Given the description of an element on the screen output the (x, y) to click on. 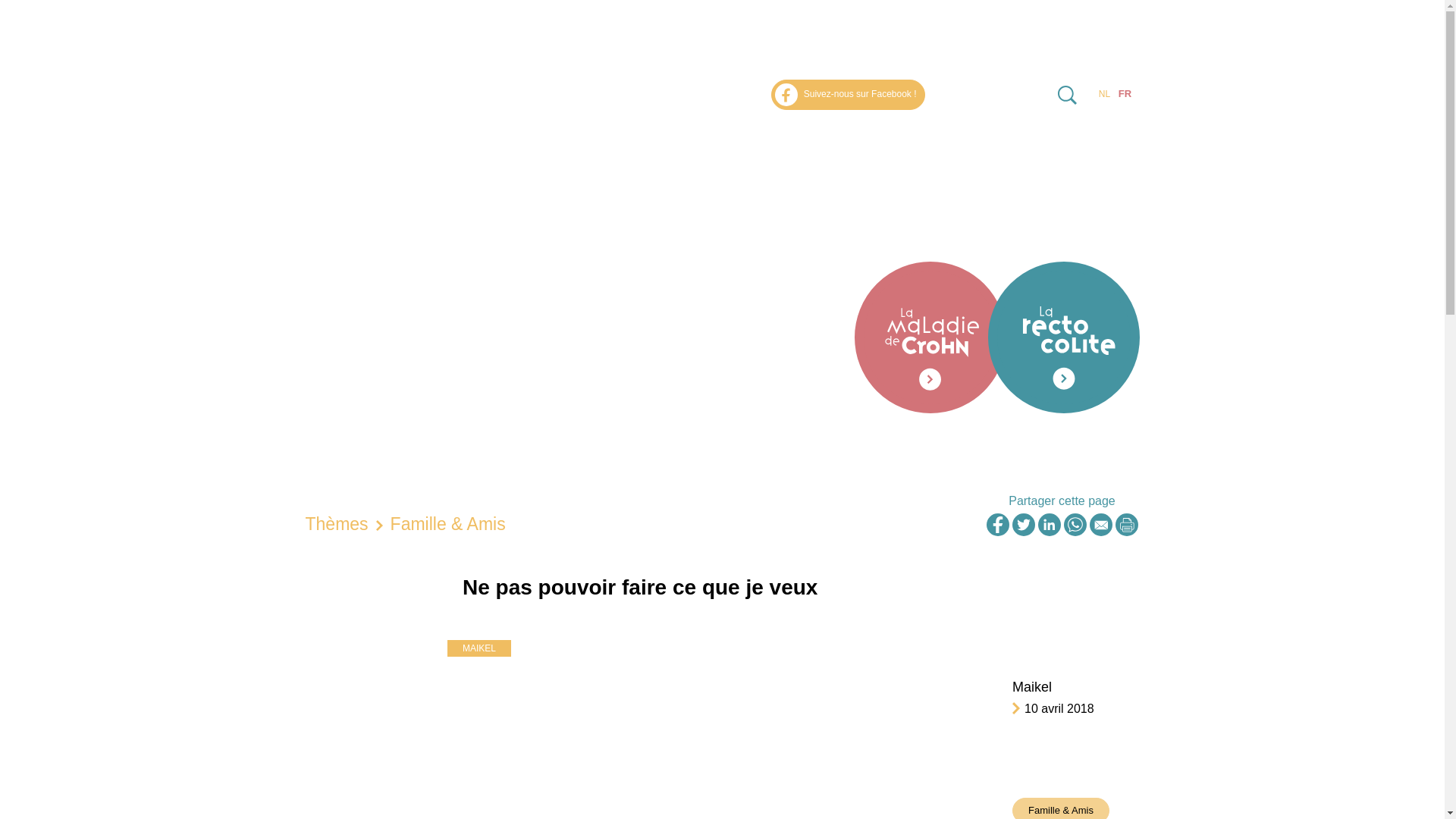
FAQ Element type: text (1124, 137)
Famille & Amis Element type: text (447, 523)
Crohn / La rectocolite et nous Element type: hover (408, 117)
FR Element type: text (1125, 93)
Partager sur LinkedIn Element type: hover (1048, 524)
Partager sur Twitter Element type: hover (1022, 524)
MAIKEL Element type: text (479, 648)
Suivez-nous sur Facebook ! Element type: text (848, 94)
Imprimer Element type: hover (1125, 524)
NL Element type: text (1104, 93)
Partager par Whatsapp Element type: hover (1074, 524)
Rechercher Element type: hover (1066, 94)
Partager par e-mail Element type: hover (1099, 524)
Partager sur Facebook Element type: hover (996, 524)
